Given the description of an element on the screen output the (x, y) to click on. 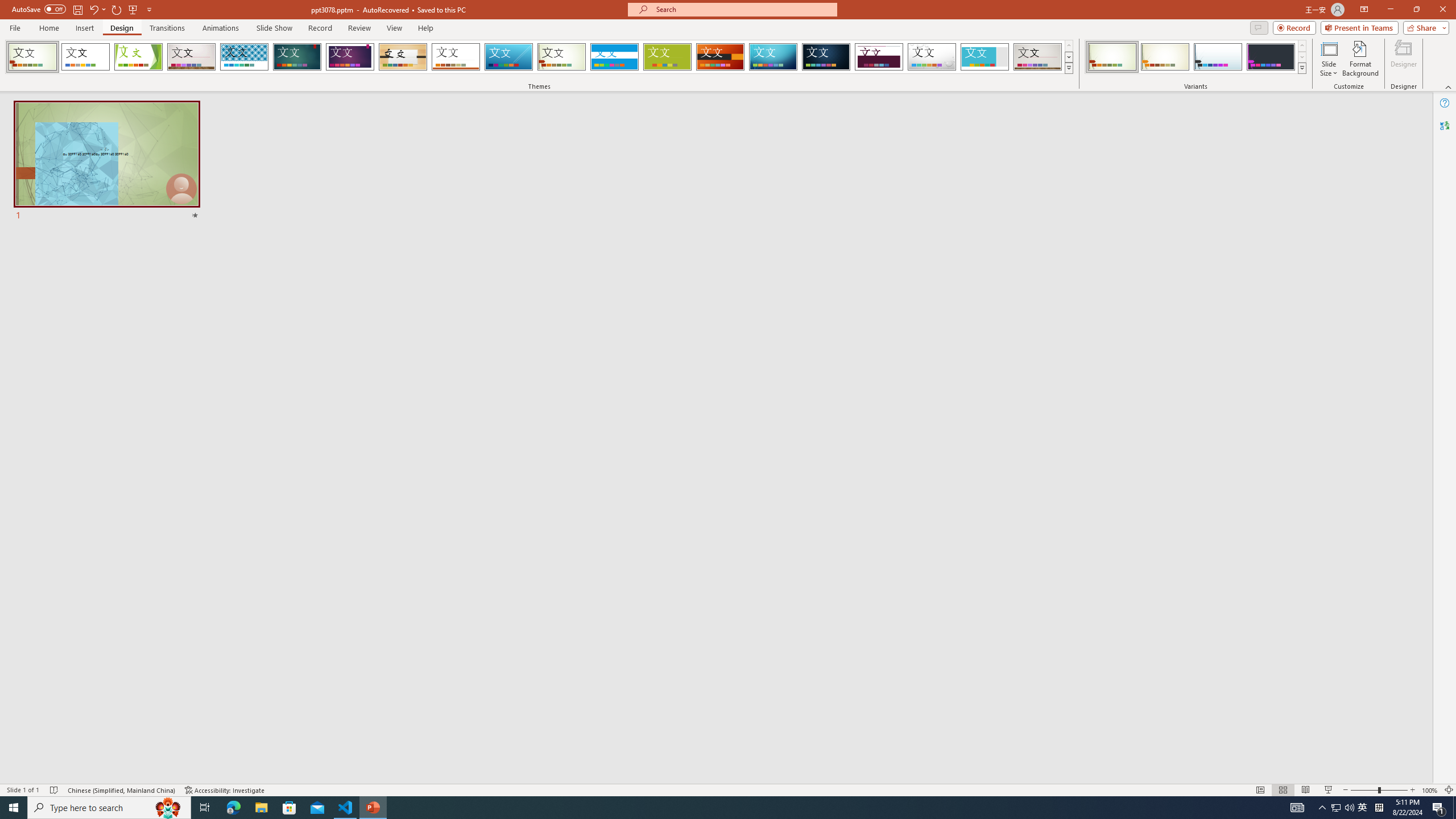
Organic (403, 56)
Row Down (1301, 56)
AutomationID: ThemeVariantsGallery (1195, 56)
Class: NetUIImage (1302, 68)
Circuit (772, 56)
Facet (138, 56)
